Given the description of an element on the screen output the (x, y) to click on. 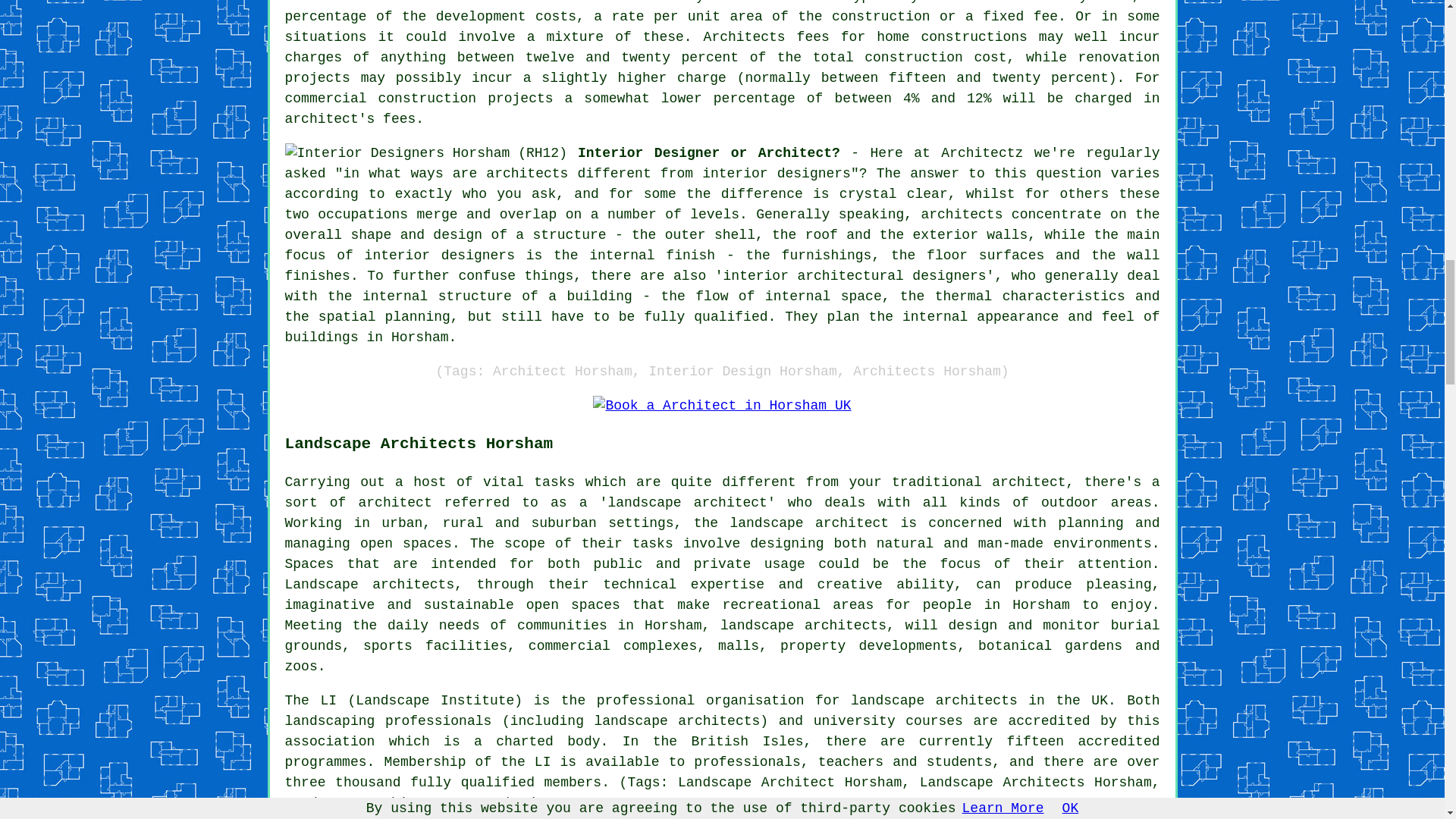
interior architectural designers (855, 275)
Book a Architect in Horsham UK (721, 405)
architect's fees (350, 118)
